Given the description of an element on the screen output the (x, y) to click on. 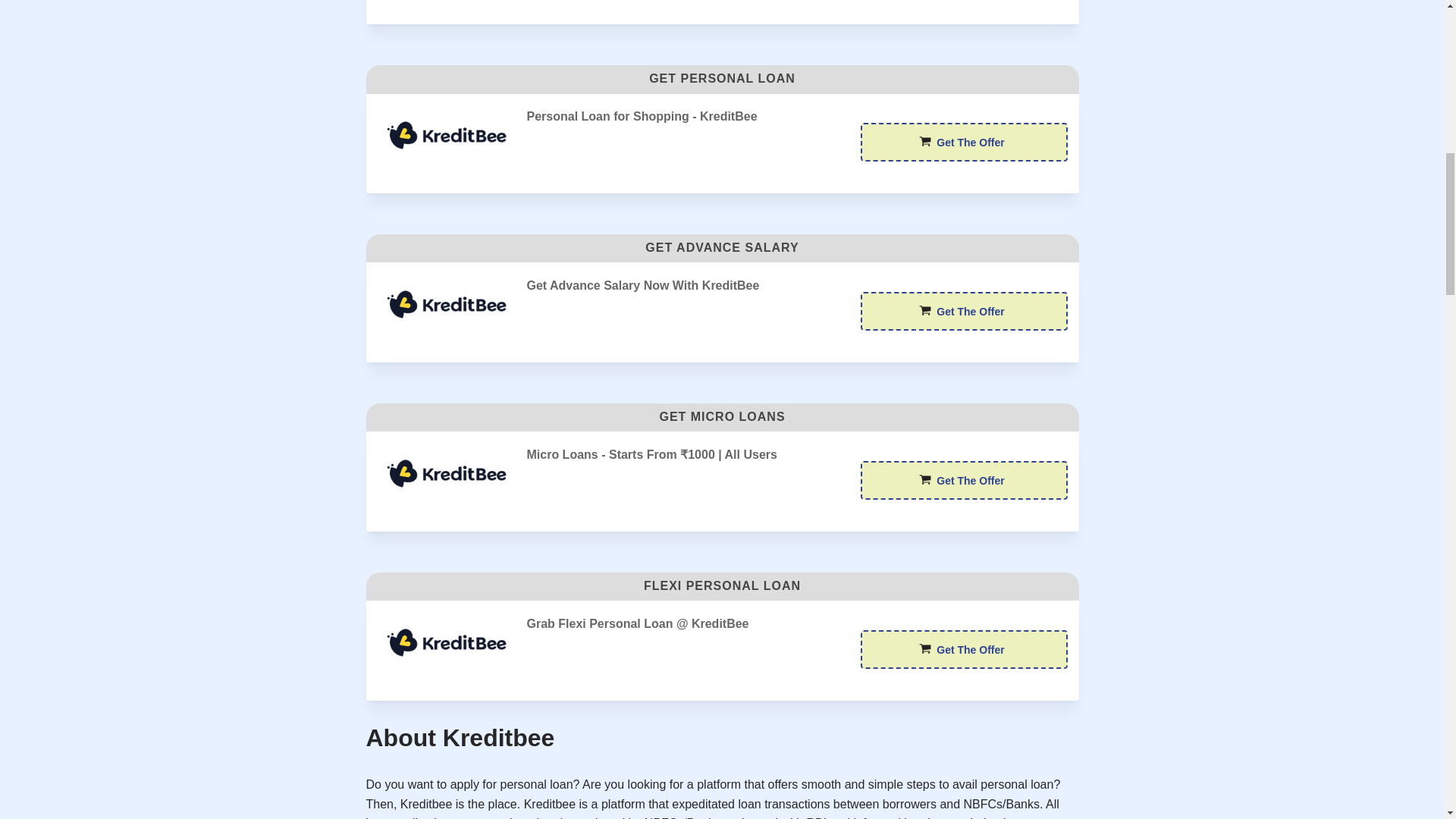
Get The Offer (963, 480)
Get The Offer (963, 141)
Personal Loan for Shopping - KreditBee (446, 134)
Get The Offer (963, 310)
Get The Offer (963, 141)
Get Advance Salary Now With KreditBee (446, 304)
Get The Offer (963, 310)
Get The Offer (963, 480)
